Given the description of an element on the screen output the (x, y) to click on. 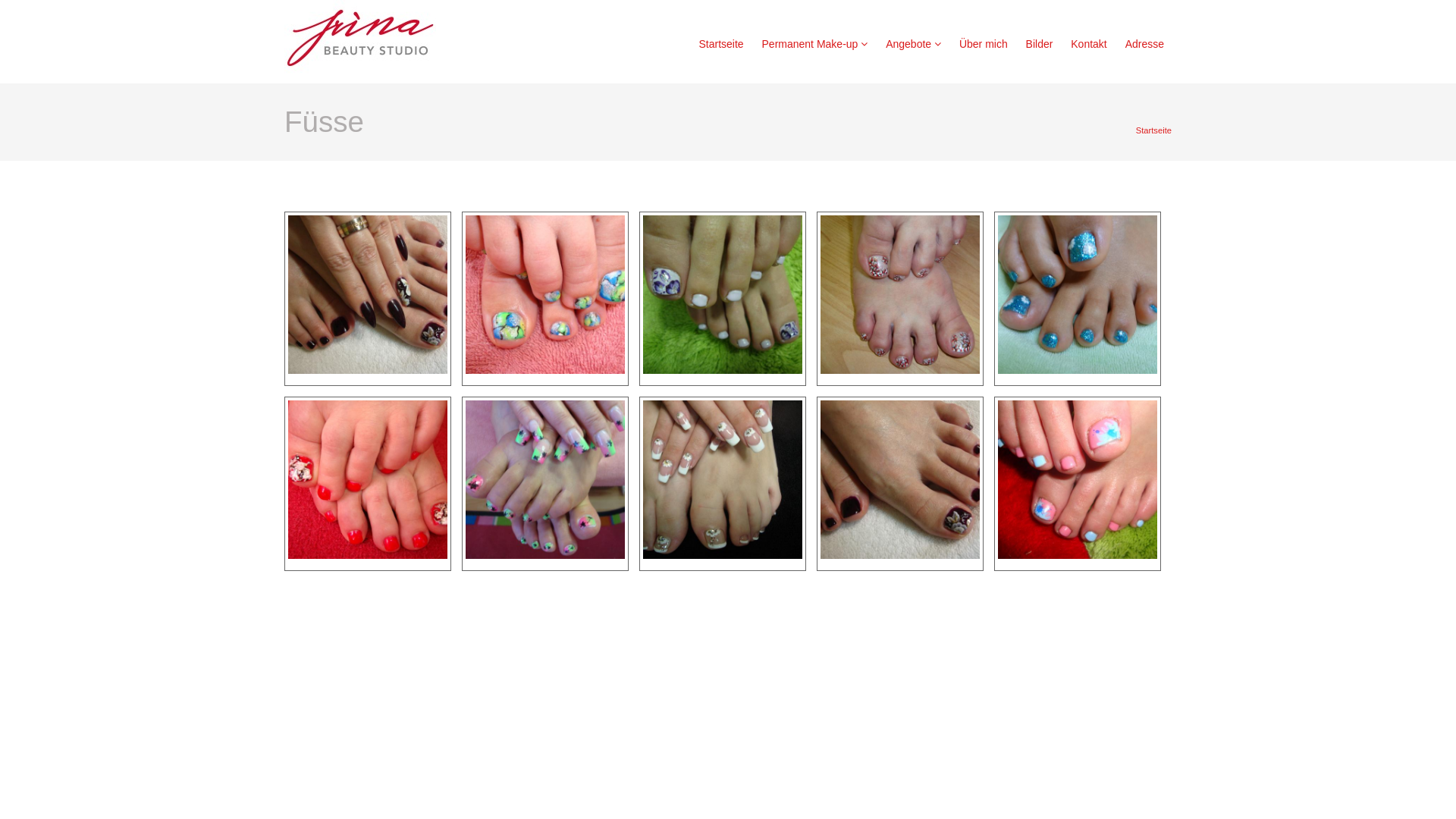
Adresse Element type: text (1144, 43)
Bilder Element type: text (1039, 43)
Startseite Element type: hover (386, 41)
Kontakt Element type: text (1088, 43)
Angebote Element type: text (912, 43)
Permanent Make-up Element type: text (815, 43)
Startseite Element type: text (720, 43)
Startseite Element type: text (1153, 129)
